Given the description of an element on the screen output the (x, y) to click on. 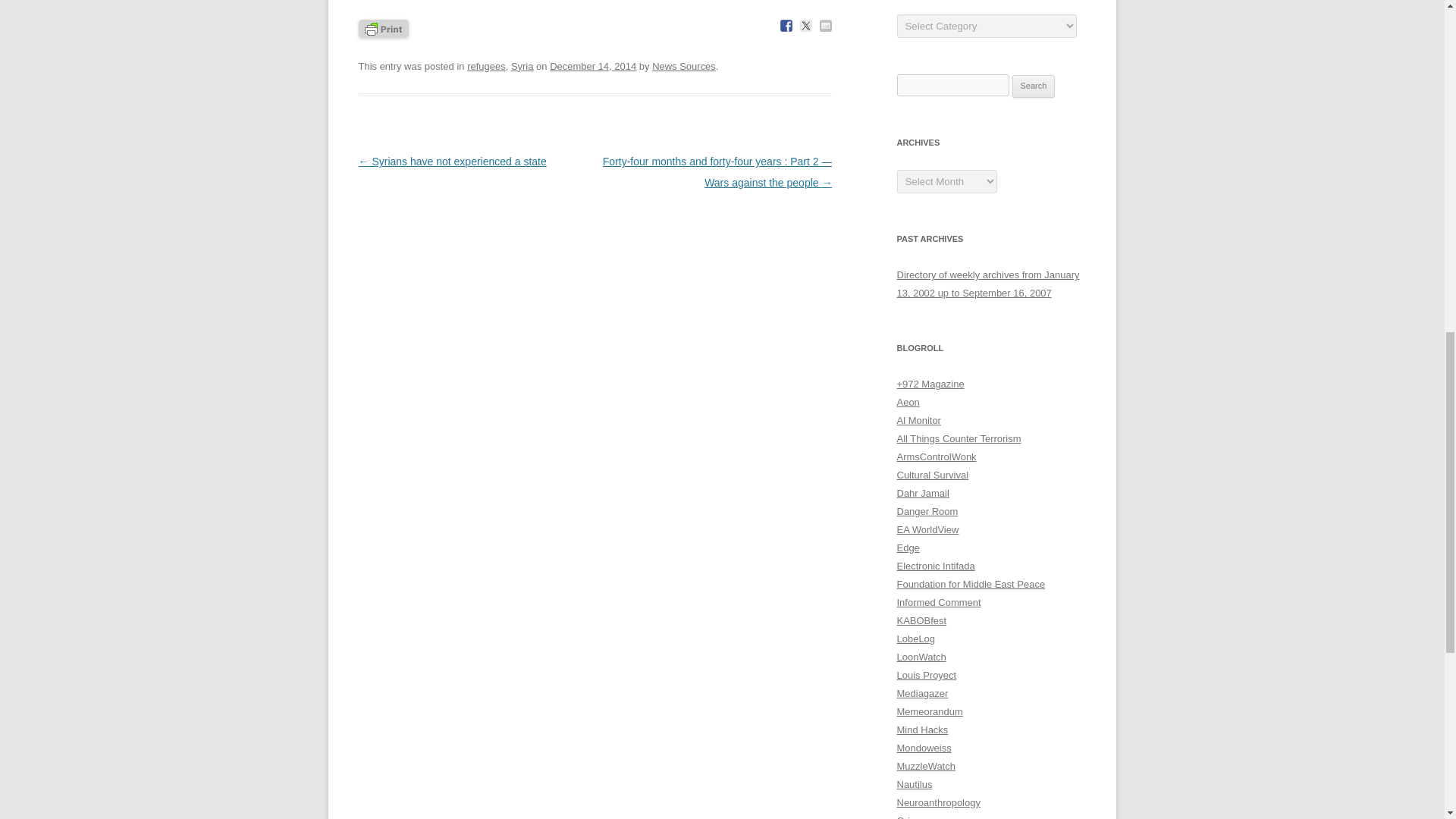
December 14, 2014 (593, 66)
News Sources (684, 66)
Share on Facebook (786, 25)
ArmsControlWonk (935, 456)
Share by email (825, 25)
Search (1033, 86)
Jim Lobe and friends on foreign policy (915, 638)
Edge (907, 547)
Syria (522, 66)
